Given the description of an element on the screen output the (x, y) to click on. 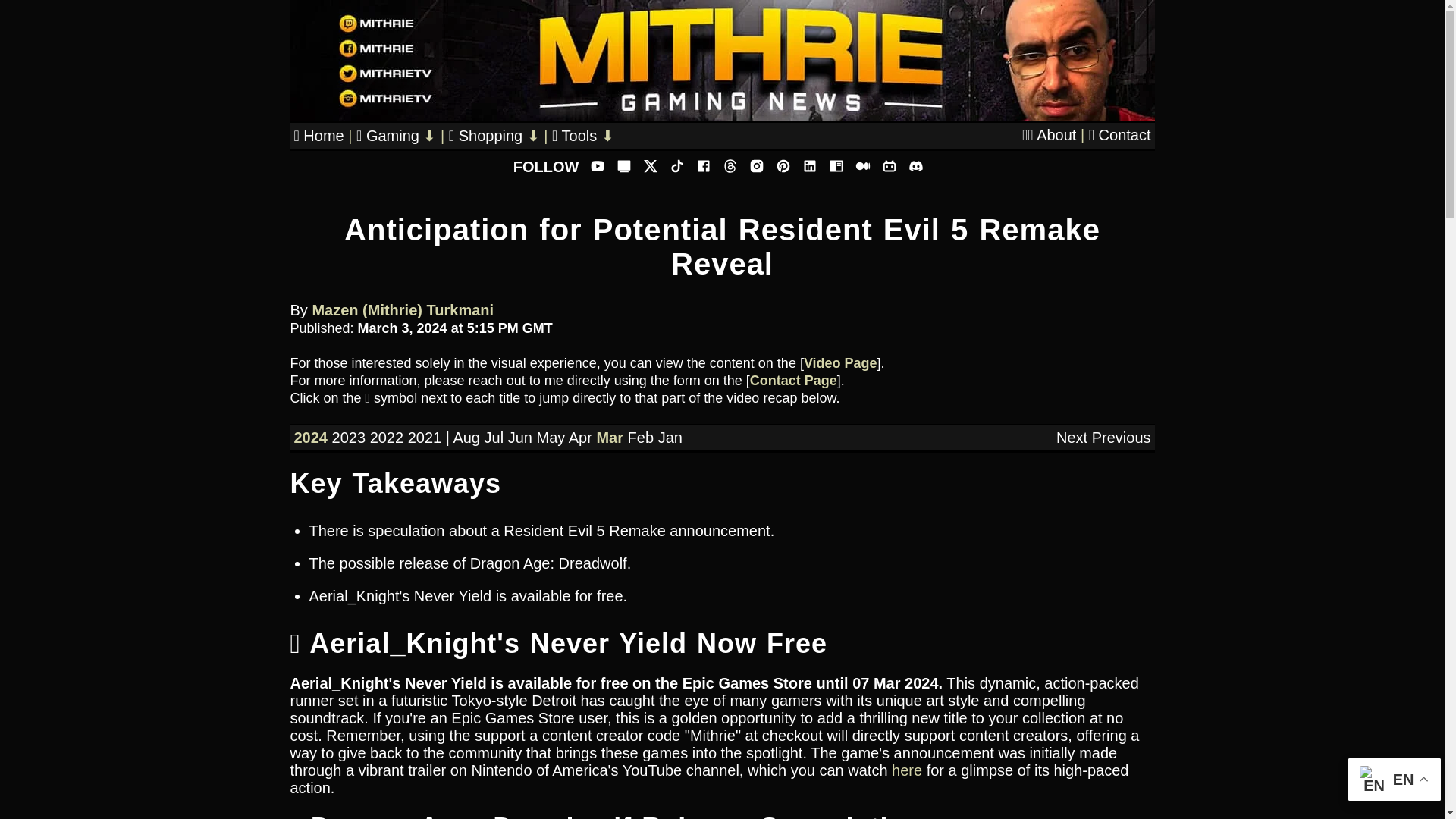
Video Page (840, 363)
2022 (386, 437)
Contact Page (793, 380)
2021 (424, 437)
Aug (466, 437)
2023 (348, 437)
